Given the description of an element on the screen output the (x, y) to click on. 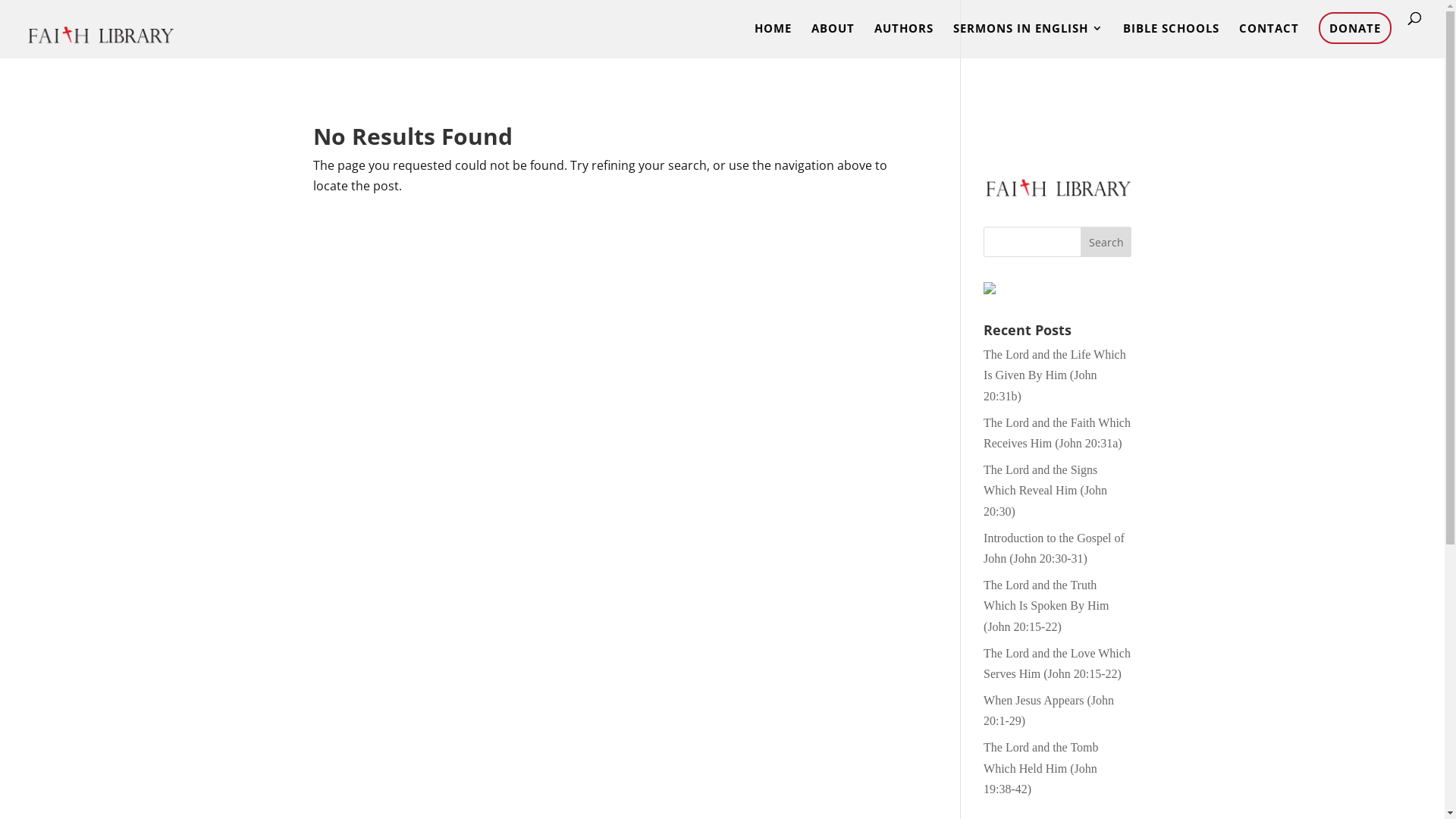
ABOUT Element type: text (832, 40)
The Lord and the Life Which Is Given By Him (John 20:31b) Element type: text (1054, 374)
Introduction to the Gospel of John (John 20:30-31) Element type: text (1053, 547)
The Lord and the Signs Which Reveal Him (John 20:30) Element type: text (1045, 490)
HOME Element type: text (772, 40)
CONTACT Element type: text (1269, 40)
The Lord and the Tomb Which Held Him (John 19:38-42) Element type: text (1040, 767)
The Lord and the Love Which Serves Him (John 20:15-22) Element type: text (1056, 663)
When Jesus Appears (John 20:1-29) Element type: text (1048, 710)
SERMONS IN ENGLISH Element type: text (1028, 40)
AUTHORS Element type: text (903, 40)
DONATE Element type: text (1354, 27)
The Lord and the Faith Which Receives Him (John 20:31a) Element type: text (1056, 432)
BIBLE SCHOOLS Element type: text (1171, 40)
Search Element type: text (1106, 241)
